Given the description of an element on the screen output the (x, y) to click on. 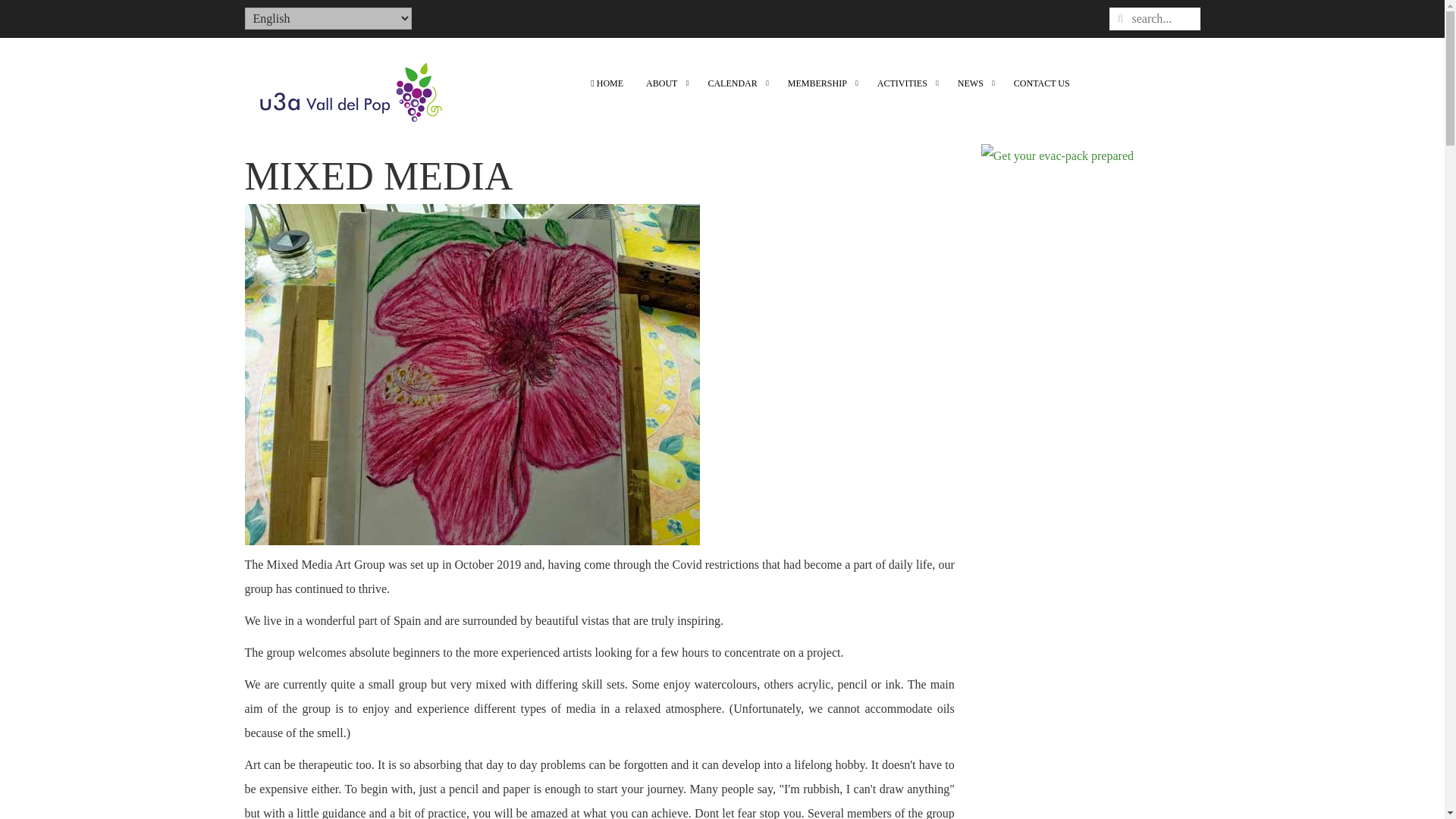
CALENDAR (735, 83)
ACTIVITIES (906, 83)
CONTACT US (1042, 83)
HOME (606, 83)
ABOUT (664, 83)
NEWS (974, 83)
MEMBERSHIP (821, 83)
